Given the description of an element on the screen output the (x, y) to click on. 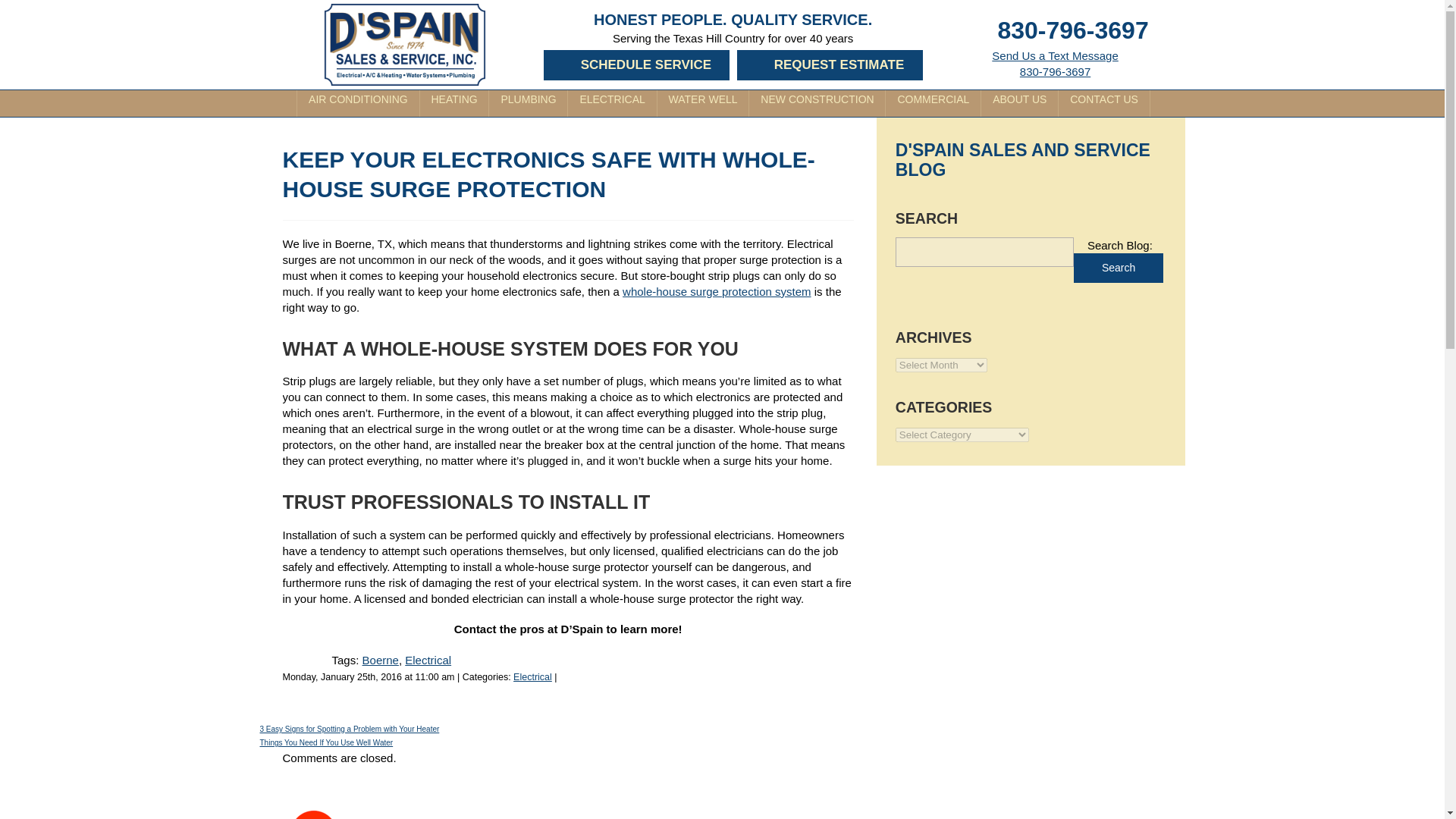
SCHEDULE SERVICE (636, 64)
REQUEST ESTIMATE (829, 64)
830-796-3697 (1072, 30)
AIR CONDITIONING (1054, 63)
HEATING (358, 103)
